Given the description of an element on the screen output the (x, y) to click on. 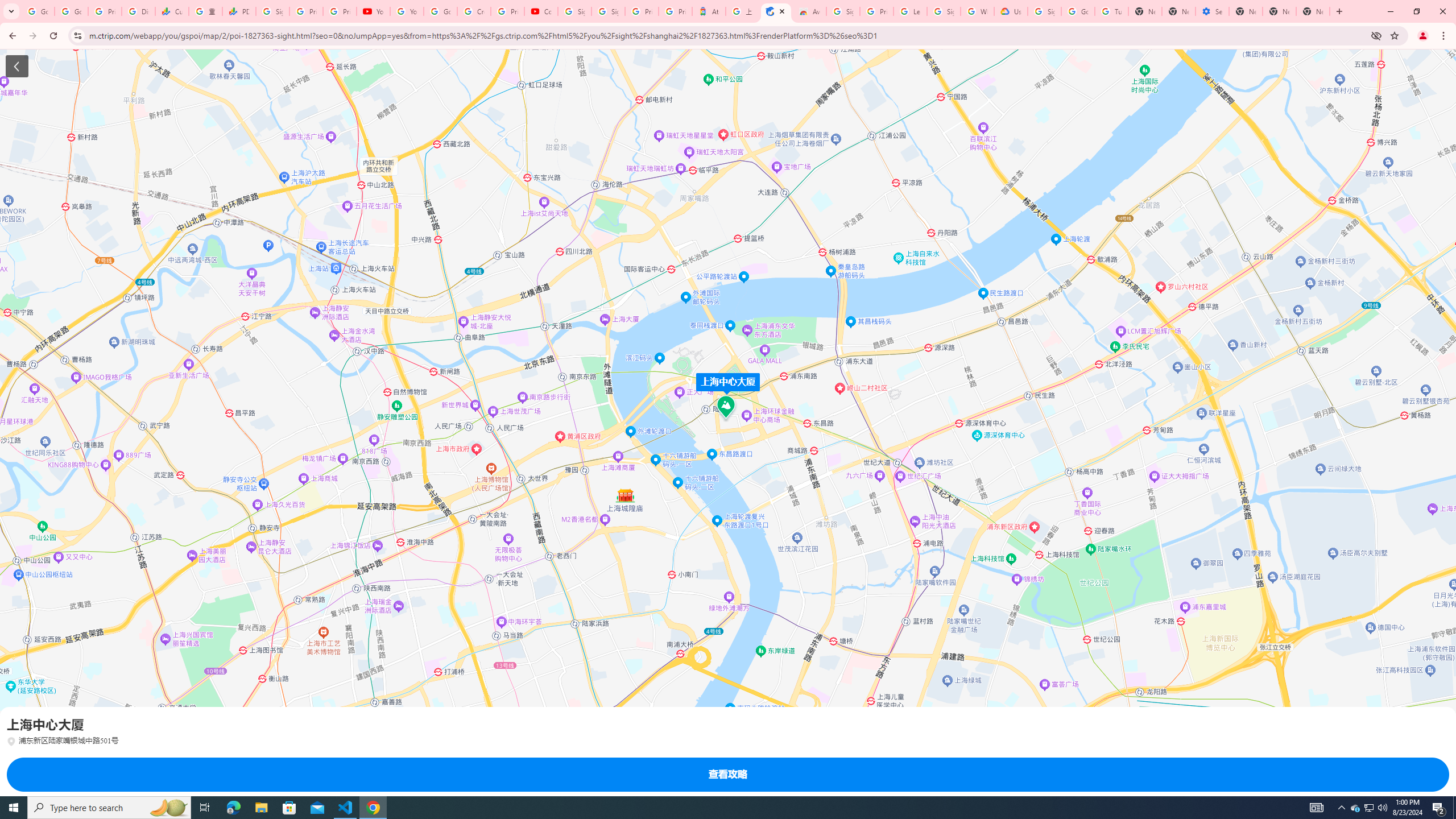
Sign in - Google Accounts (574, 11)
New Tab (1246, 11)
PDD Holdings Inc - ADR (PDD) Price & News - Google Finance (238, 11)
Privacy Checkup (339, 11)
